Given the description of an element on the screen output the (x, y) to click on. 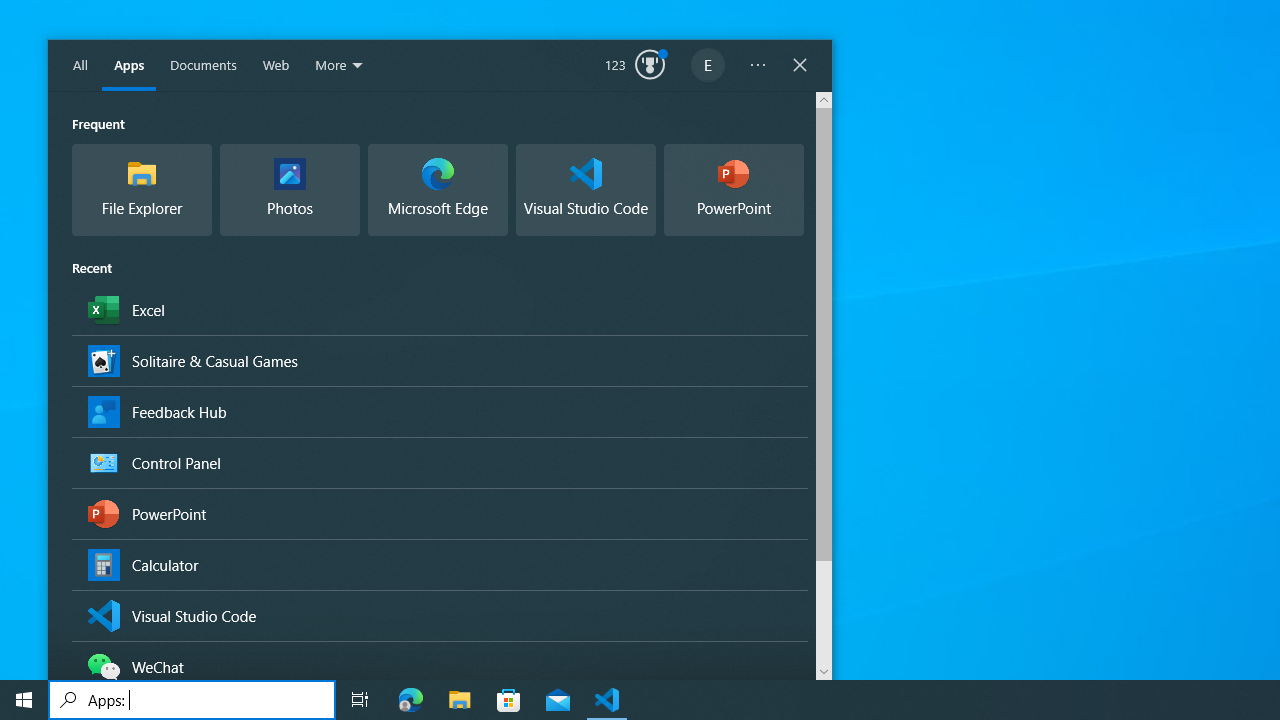
Search box (191, 699)
More (340, 65)
PowerPoint, App (439, 513)
Web (275, 65)
All (80, 65)
Recent Group,Excel, App (439, 308)
Calculator, App (439, 564)
